Given the description of an element on the screen output the (x, y) to click on. 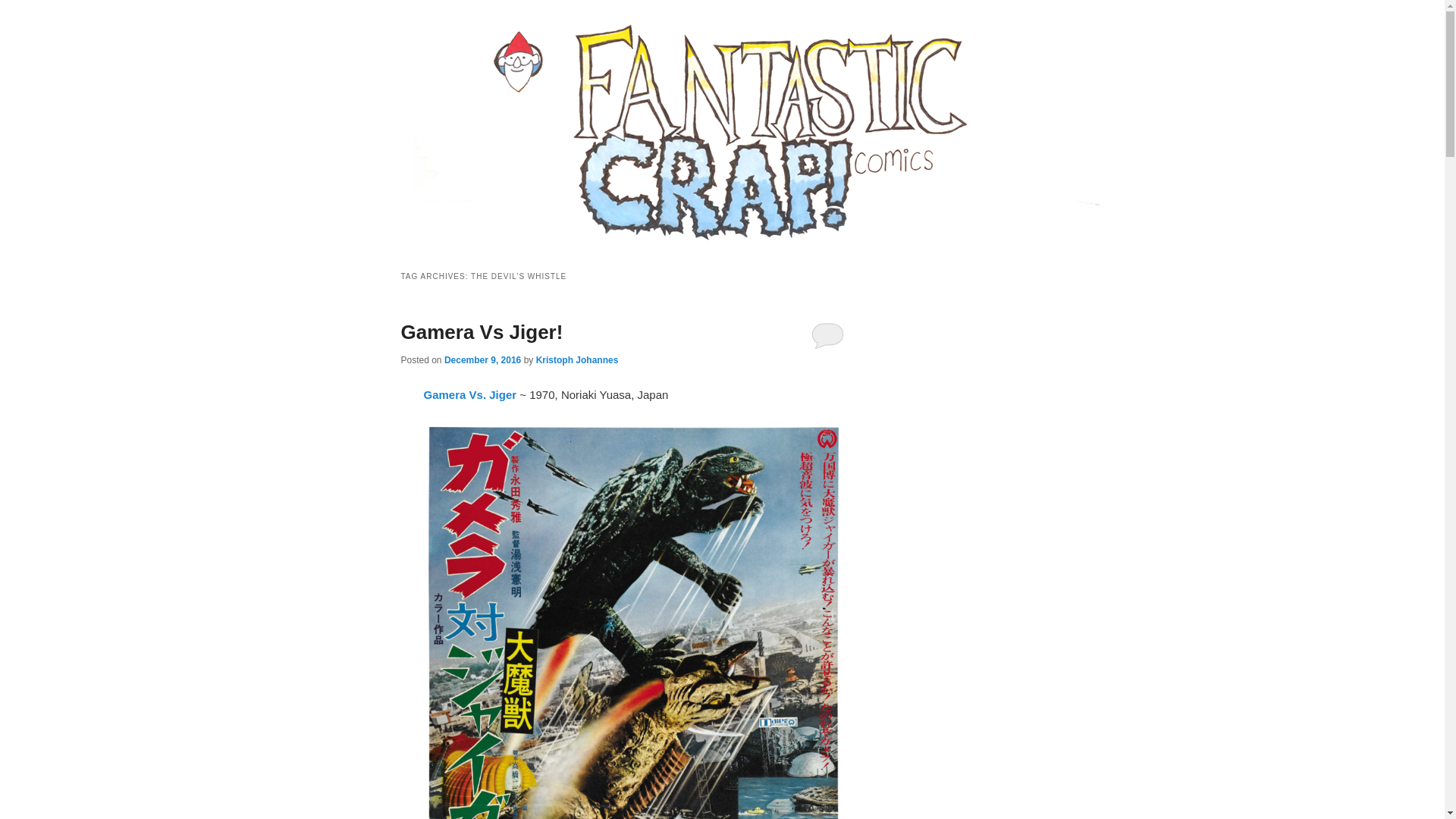
5:40 am (482, 359)
View all posts by Kristoph Johannes (576, 359)
Fantastic Crap Comics (523, 77)
Search (24, 8)
Permalink to Gamera Vs Jiger! (481, 332)
Fantastic Crap Comics (523, 77)
